Given the description of an element on the screen output the (x, y) to click on. 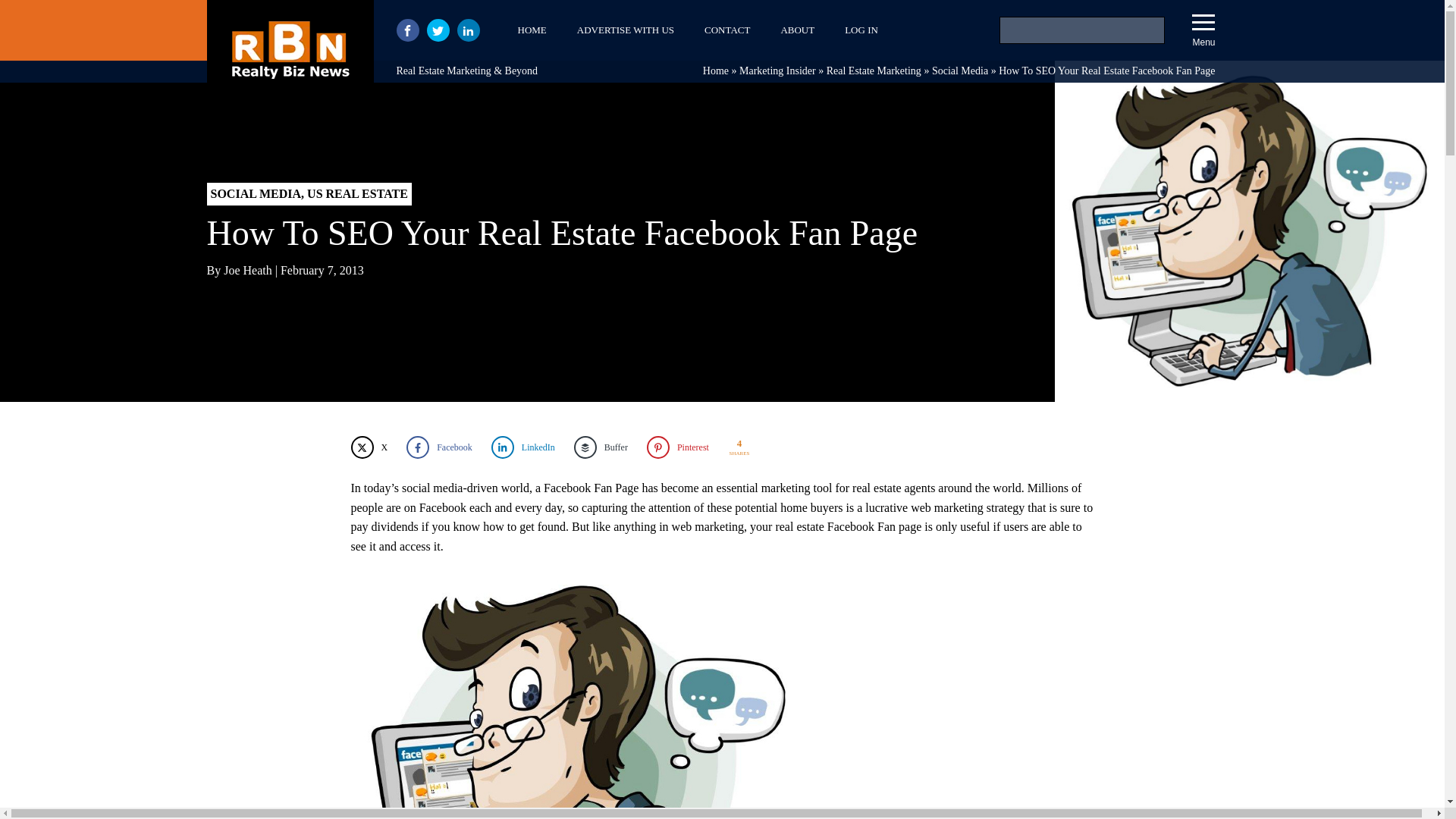
ADVERTISE WITH US (625, 30)
Real Estate Marketing (874, 70)
HOME (531, 30)
CONTACT (726, 30)
Marketing Insider (777, 70)
Real Estate Marketing (874, 70)
Search (31, 13)
Social Media (959, 70)
Home (716, 70)
ABOUT (797, 30)
LOG IN (861, 30)
Marketing Insider (777, 70)
Social Media (959, 70)
Home (716, 70)
